Given the description of an element on the screen output the (x, y) to click on. 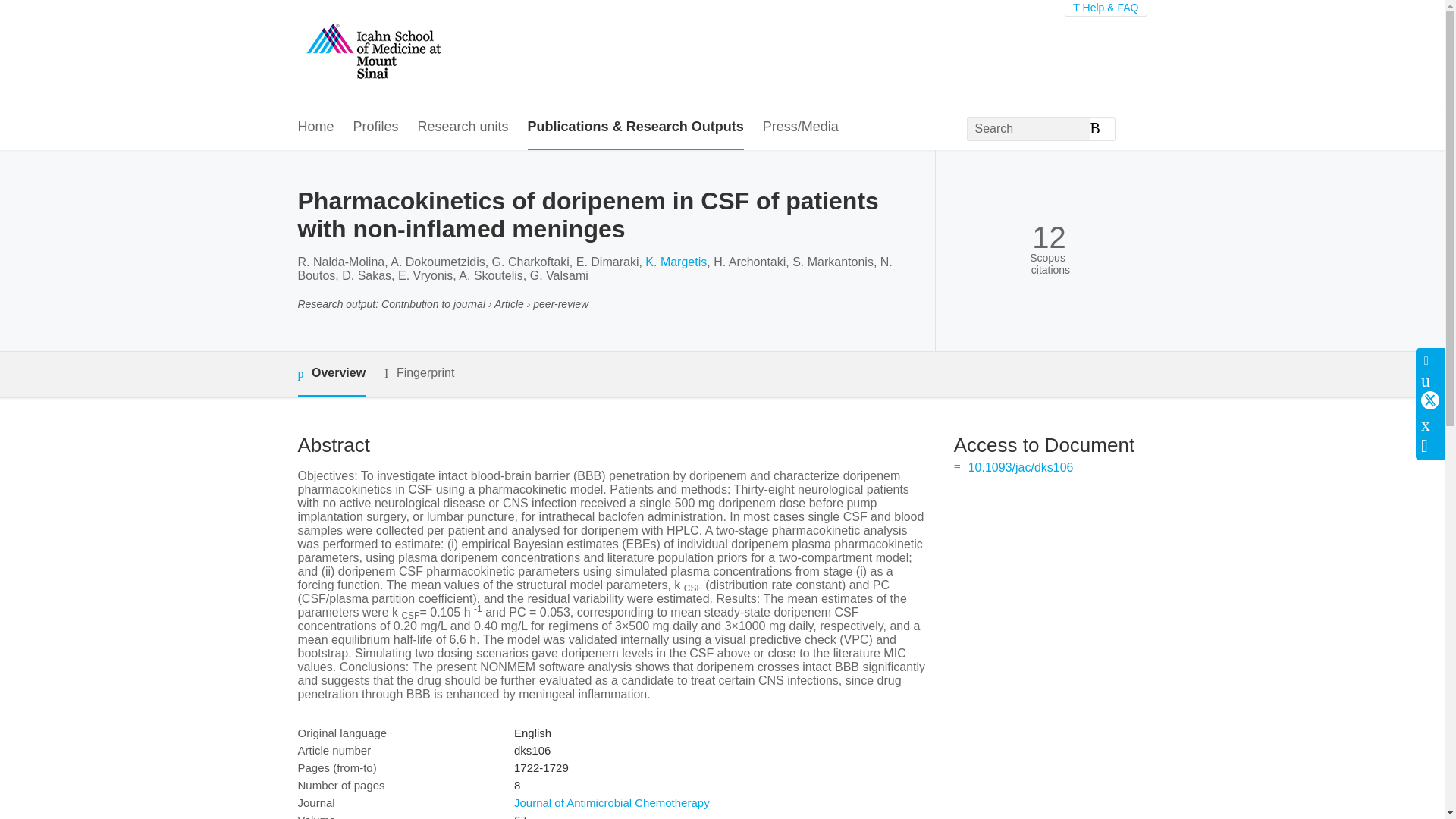
Icahn School of Medicine at Mount Sinai Home (372, 52)
Journal of Antimicrobial Chemotherapy (611, 802)
Overview (331, 374)
Fingerprint (419, 373)
K. Margetis (675, 261)
Research units (462, 127)
Profiles (375, 127)
